Given the description of an element on the screen output the (x, y) to click on. 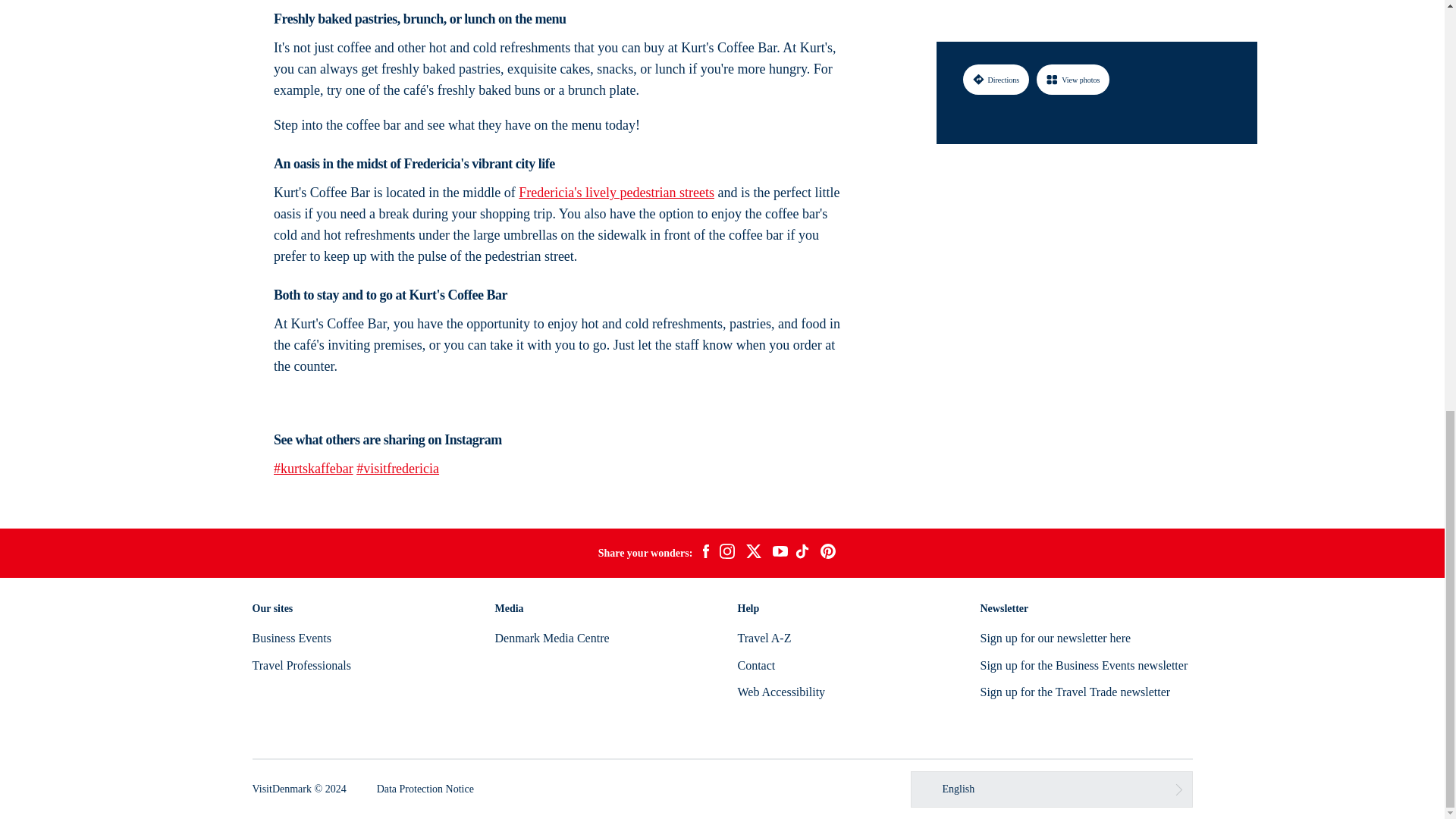
tiktok (804, 553)
Travel Professionals (300, 665)
twitter (753, 553)
facebook (705, 553)
Sign up for the Business Events newsletter (1083, 665)
Contact (755, 665)
Travel Professionals (300, 665)
Business Events (290, 637)
Sign up for the Travel Trade newsletter (1074, 691)
Fredericia's lively pedestrian streets (616, 192)
Travel A-Z (763, 637)
Data Protection Notice (425, 789)
instagram (726, 553)
Sign up for the Business Events newsletter (1083, 665)
Travel A-Z (763, 637)
